Given the description of an element on the screen output the (x, y) to click on. 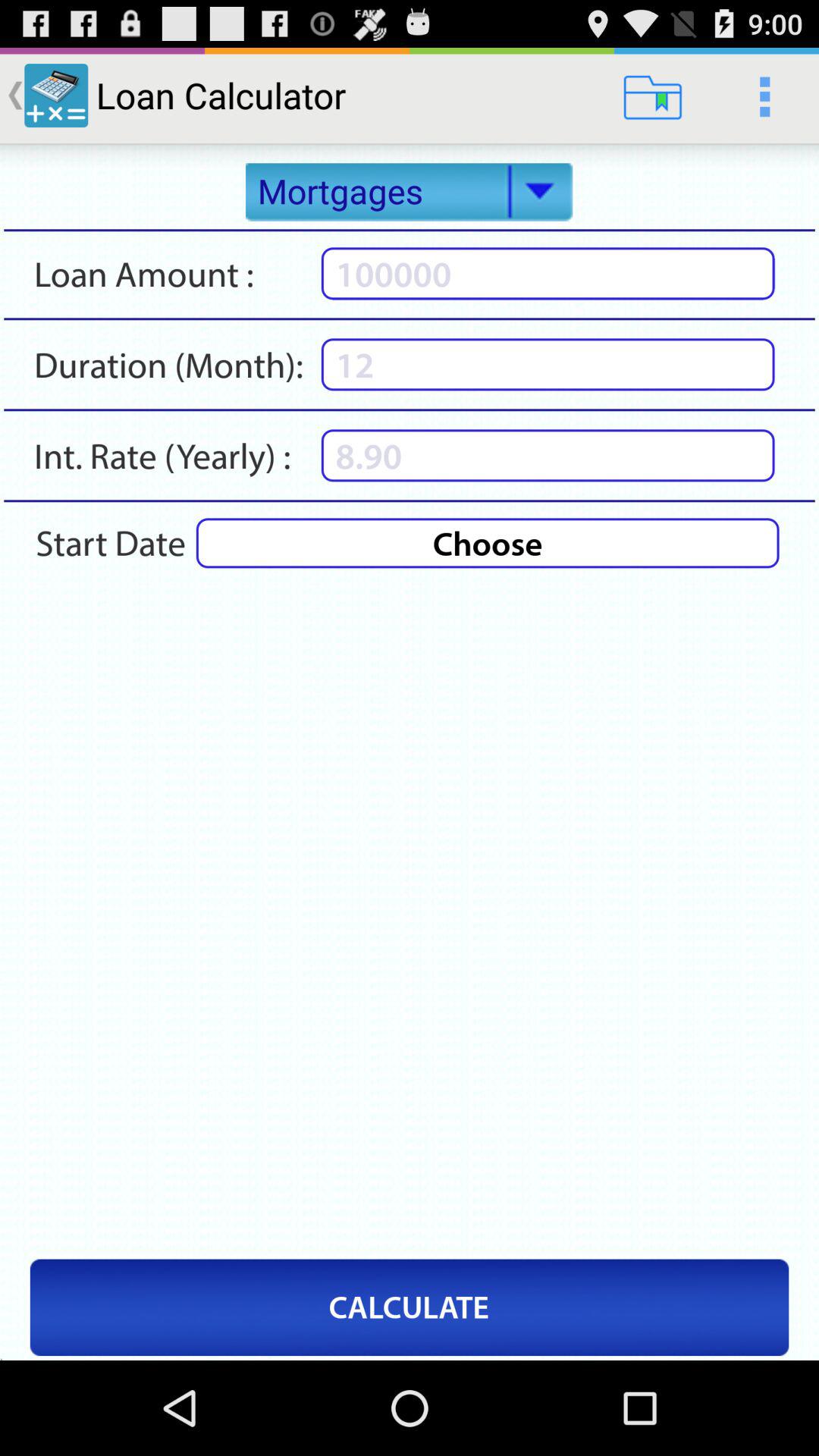
input month duration (547, 364)
